Given the description of an element on the screen output the (x, y) to click on. 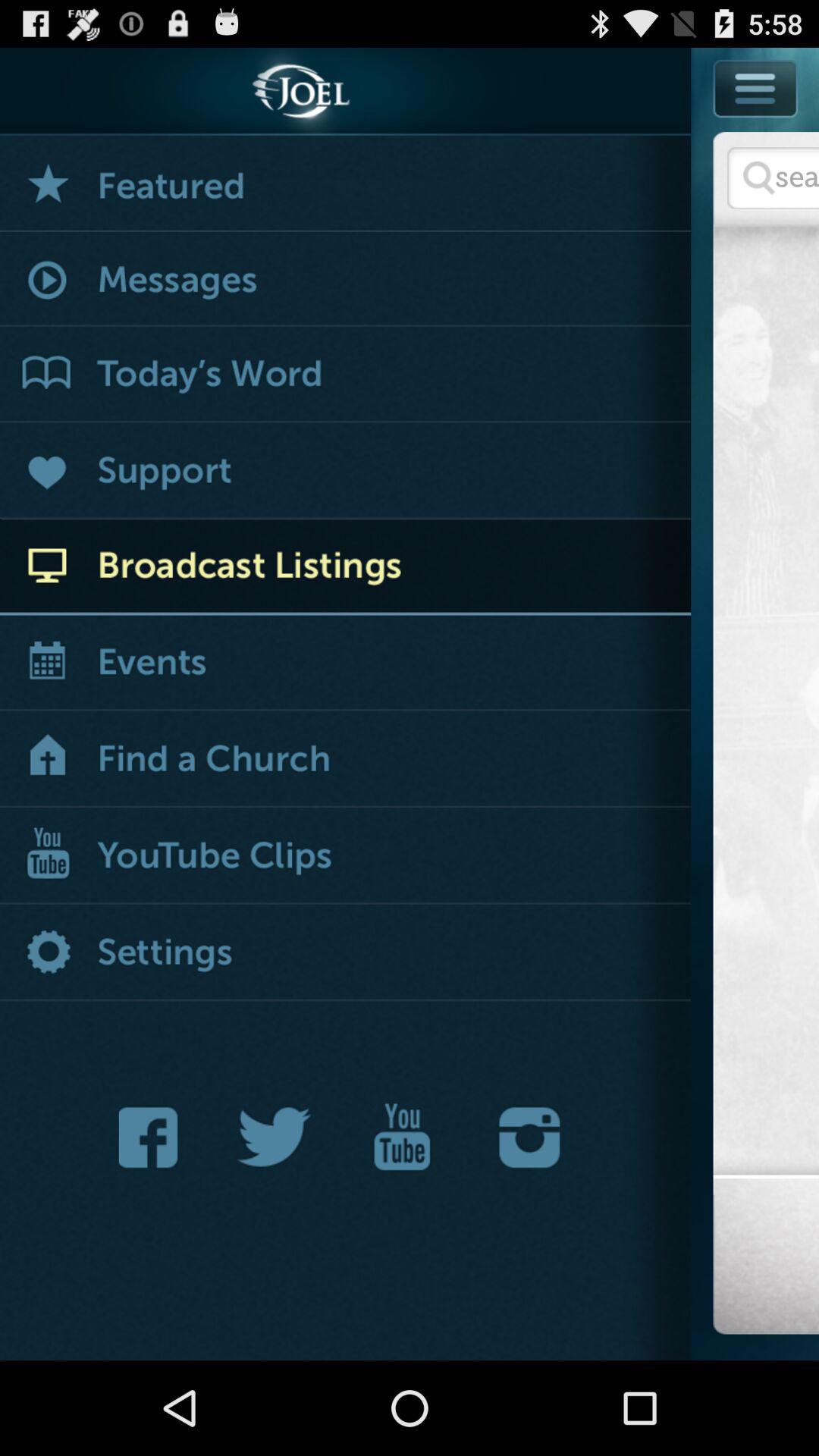
find church (345, 760)
